Given the description of an element on the screen output the (x, y) to click on. 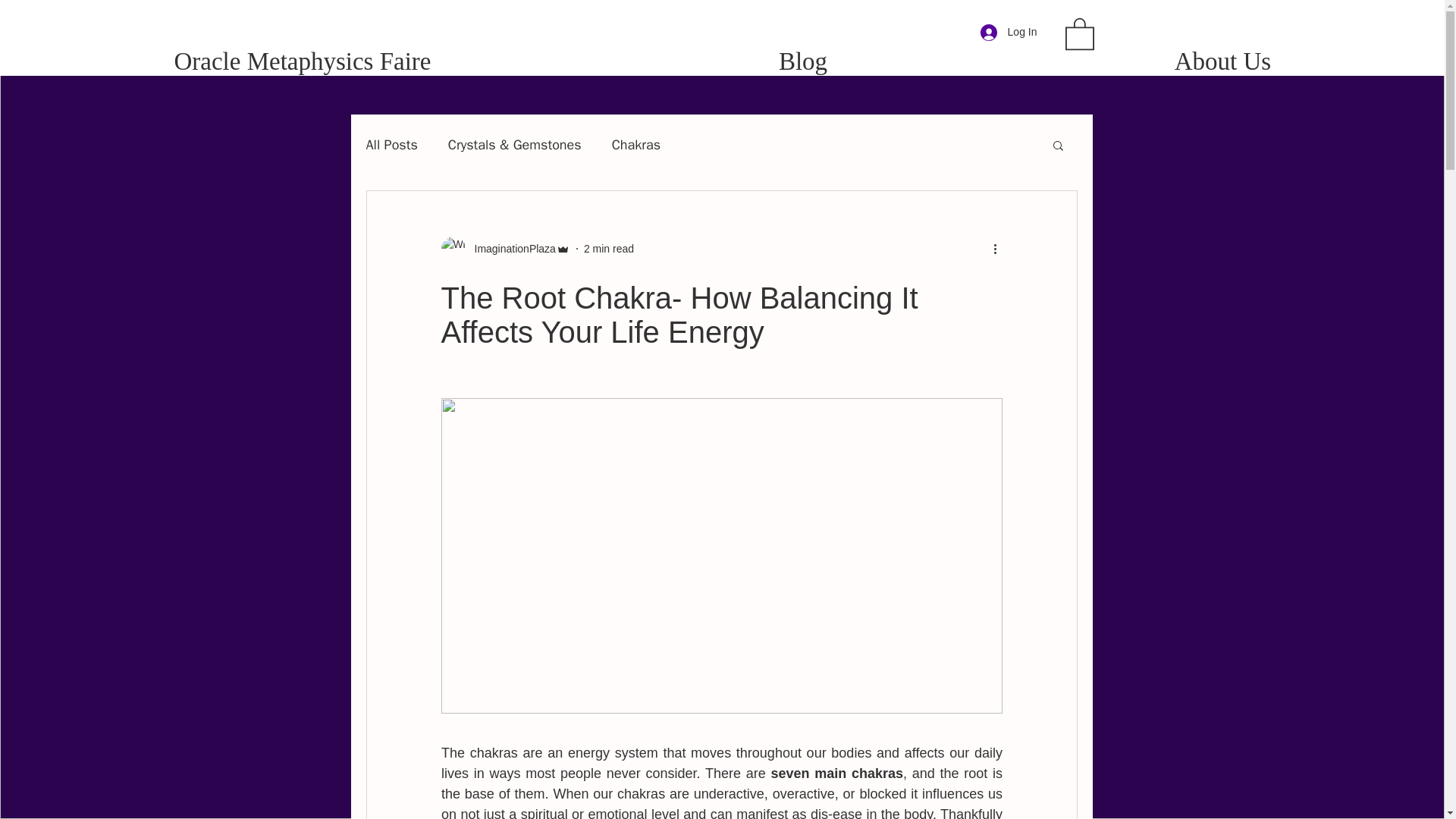
ImaginationPlaza (505, 248)
Log In (1008, 31)
2 min read (608, 248)
Oracle Metaphysics Faire (302, 53)
Chakras (636, 144)
Blog (803, 53)
All Posts (390, 144)
ImaginationPlaza (510, 248)
